Given the description of an element on the screen output the (x, y) to click on. 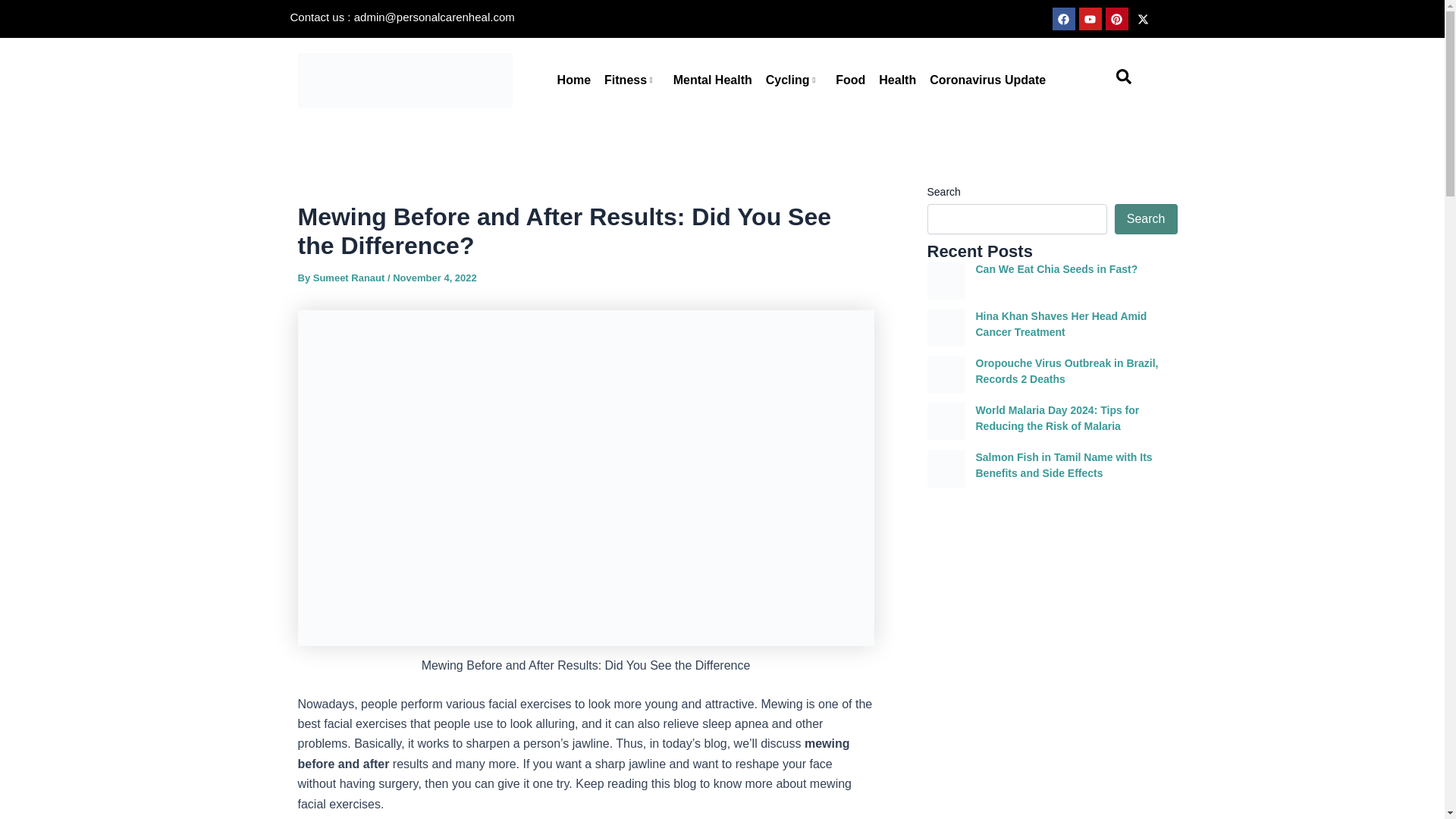
Facebook (1063, 18)
Youtube (1089, 18)
Sumeet Ranaut (350, 277)
Pinterest (1116, 18)
Health (897, 80)
Fitness (631, 80)
Food (850, 80)
View all posts by Sumeet Ranaut (350, 277)
Coronavirus Update (987, 80)
Mental Health (712, 80)
